Given the description of an element on the screen output the (x, y) to click on. 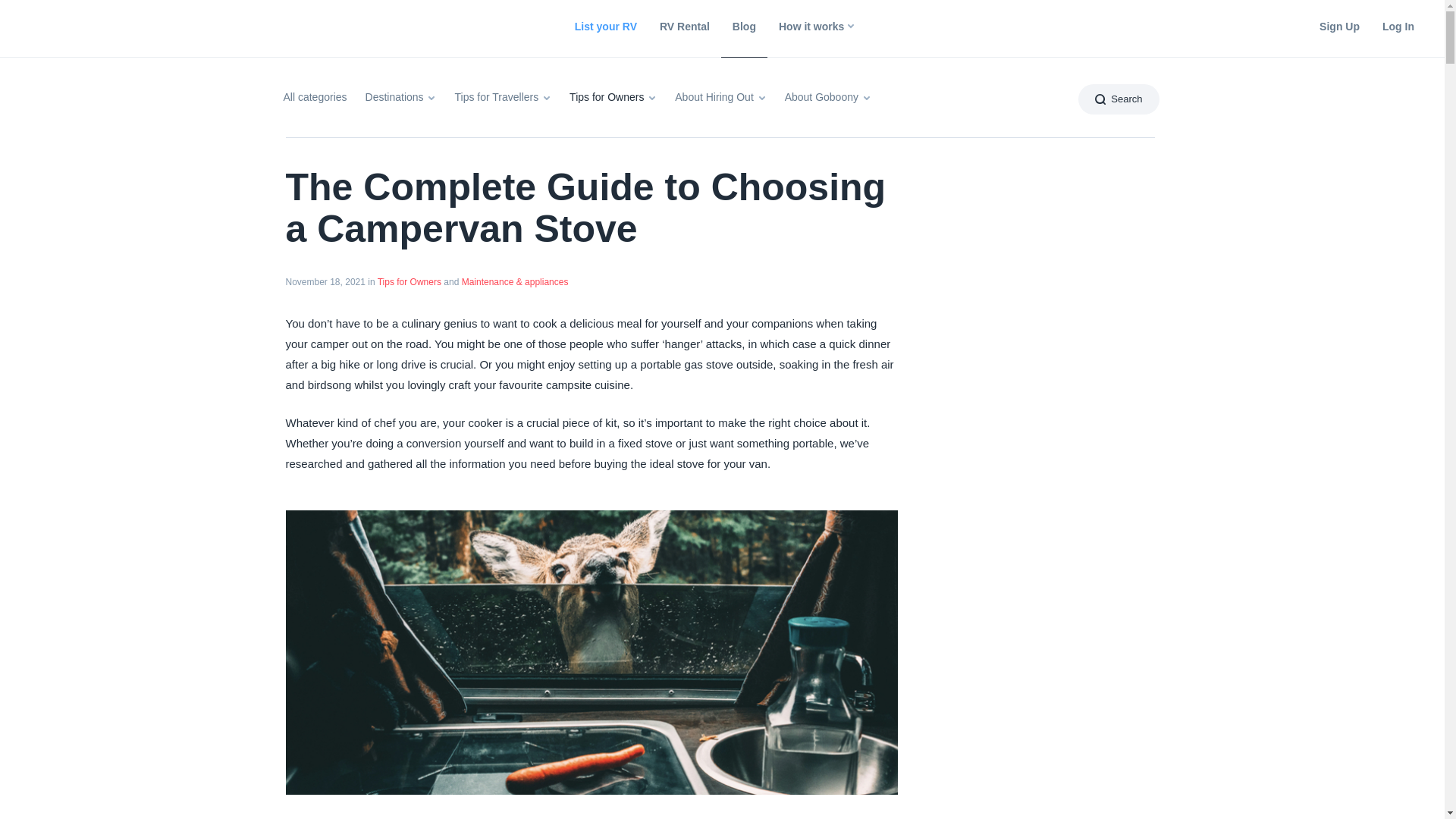
Search (1118, 99)
List your RV (605, 26)
Destinations (400, 100)
All categories (315, 100)
Log In (1398, 26)
Sign Up (1339, 26)
RV Rental (683, 26)
How it works (814, 26)
